Given the description of an element on the screen output the (x, y) to click on. 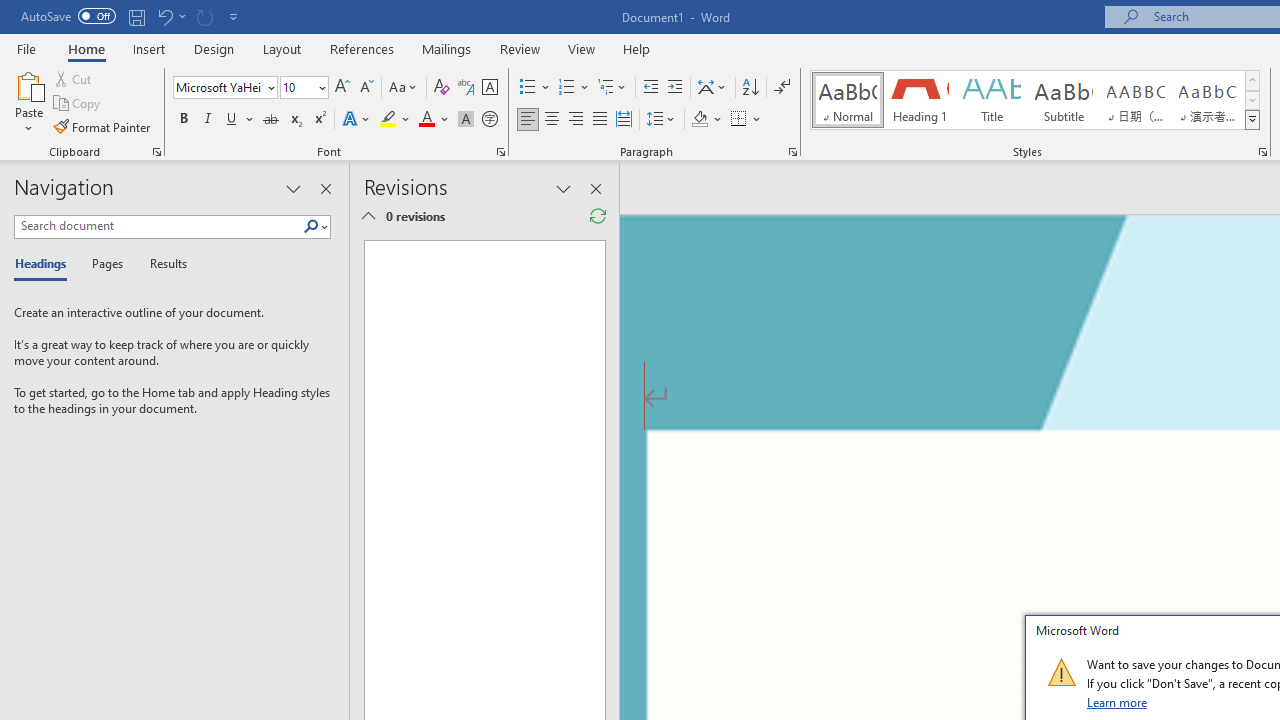
Subscript (294, 119)
Font (218, 87)
Borders (739, 119)
Increase Indent (675, 87)
AutoSave (68, 16)
Format Painter (103, 126)
Multilevel List (613, 87)
Underline (232, 119)
More Options (757, 119)
Show Detailed Summary (368, 215)
Font Color (434, 119)
Review (520, 48)
Learn more (1118, 702)
Class: NetUIImage (1061, 671)
Bullets (527, 87)
